Given the description of an element on the screen output the (x, y) to click on. 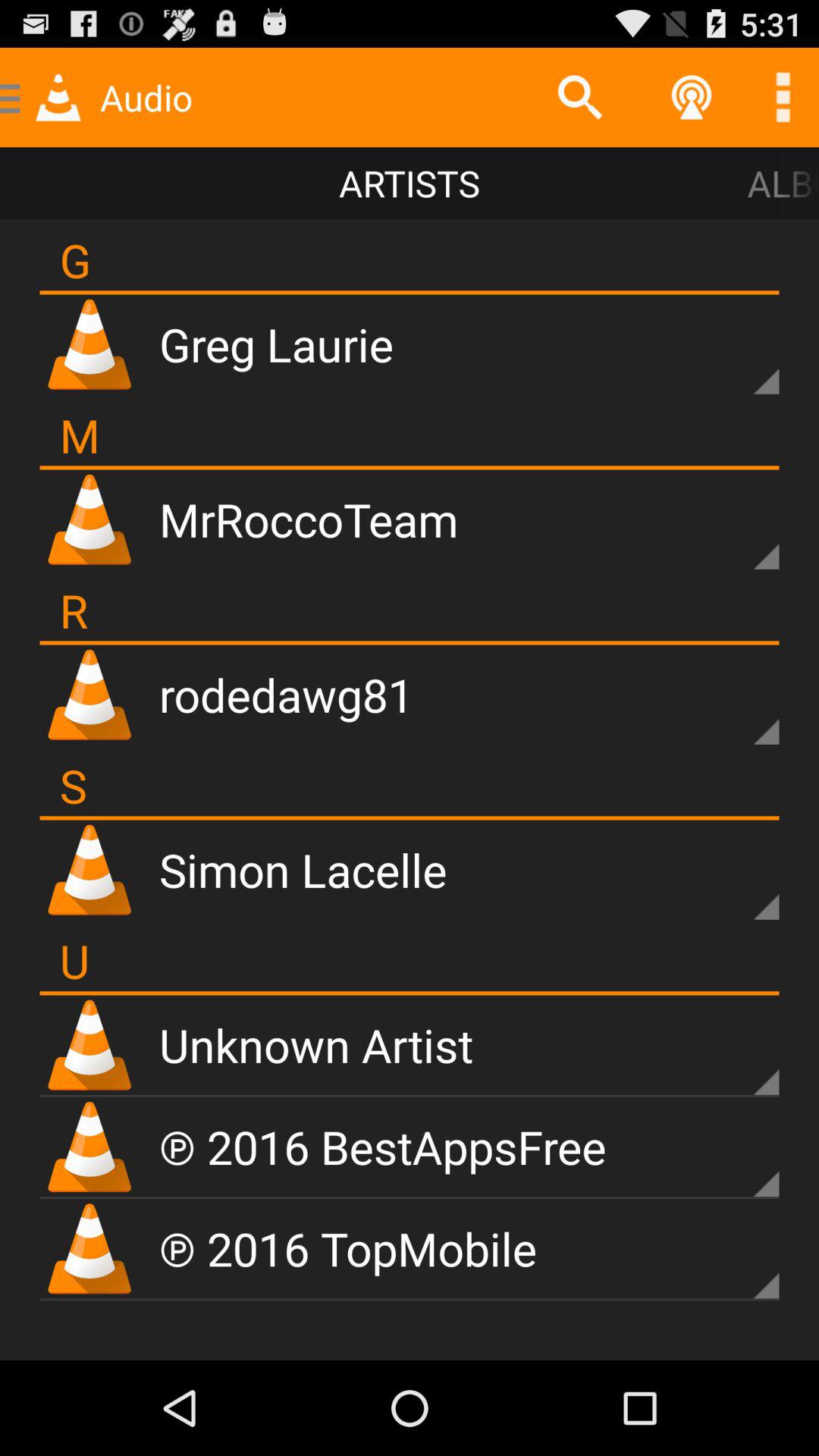
show albums from artist (740, 1056)
